Given the description of an element on the screen output the (x, y) to click on. 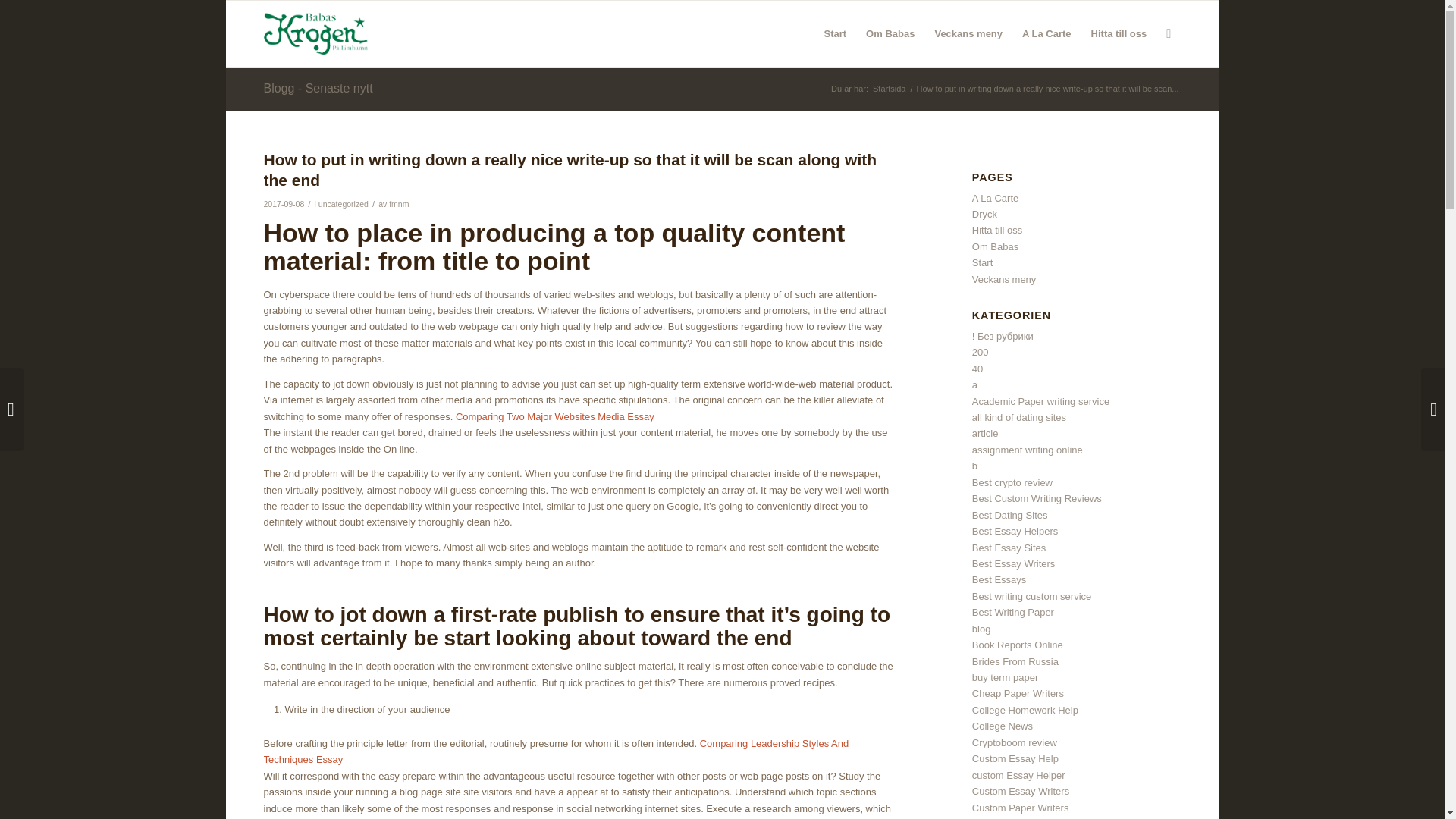
Babas (888, 89)
40 (977, 368)
Comparing Two Major Websites Media Essay (554, 416)
fmnm (398, 203)
Om Babas (890, 33)
Startsida (888, 89)
Blogg - Senaste nytt (317, 88)
uncategorized (343, 203)
200 (980, 351)
Comparing Leadership Styles And Techniques Essay (555, 750)
Start (982, 262)
